Given the description of an element on the screen output the (x, y) to click on. 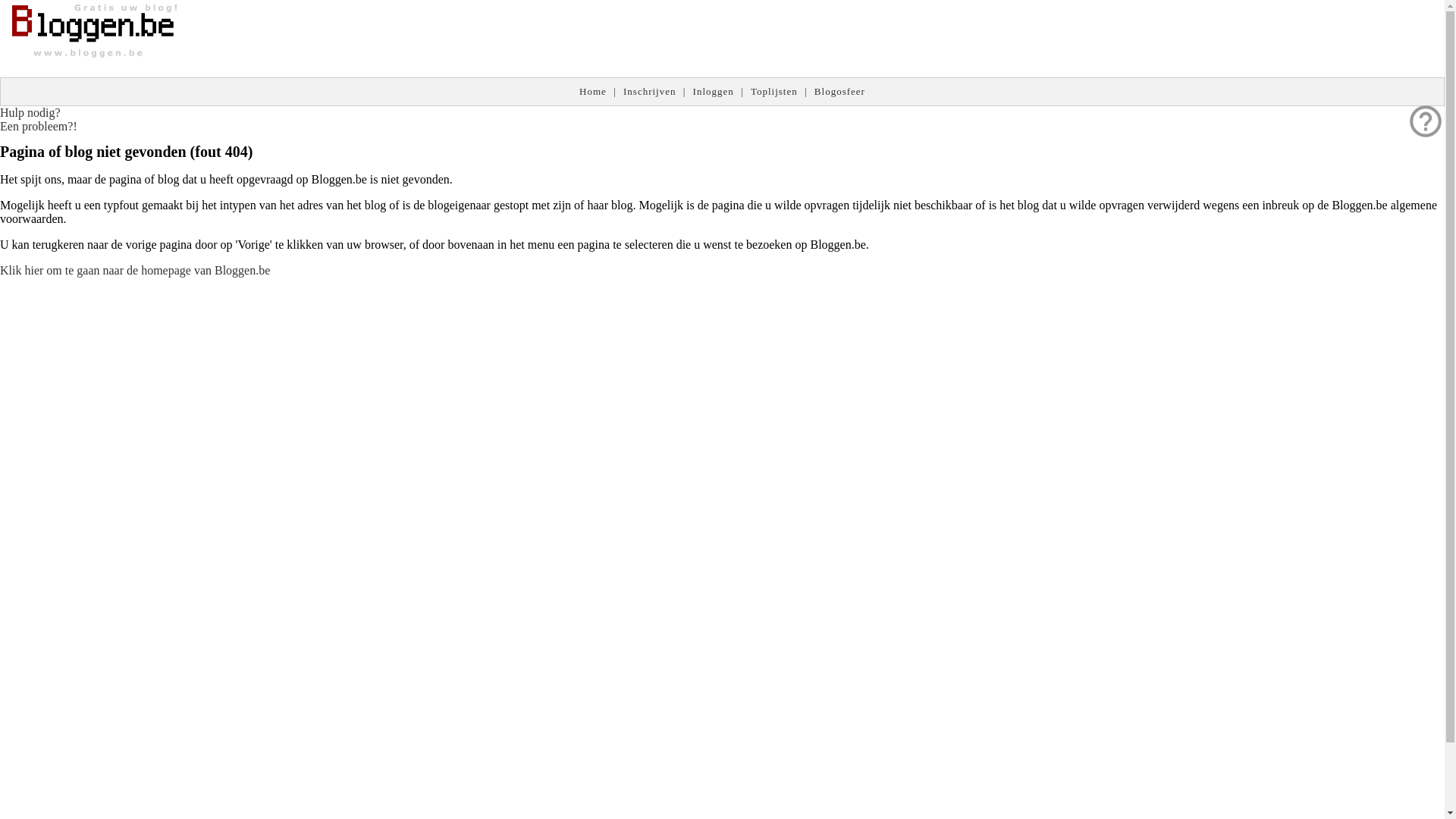
Inloggen Element type: text (713, 91)
Blogosfeer Element type: text (839, 91)
Inschrijven Element type: text (649, 91)
help_outline
Hulp nodig?
Een probleem?! Element type: text (38, 119)
Toplijsten Element type: text (773, 91)
Klik hier om te gaan naar de homepage van Bloggen.be Element type: text (134, 269)
Home Element type: text (592, 91)
